Given the description of an element on the screen output the (x, y) to click on. 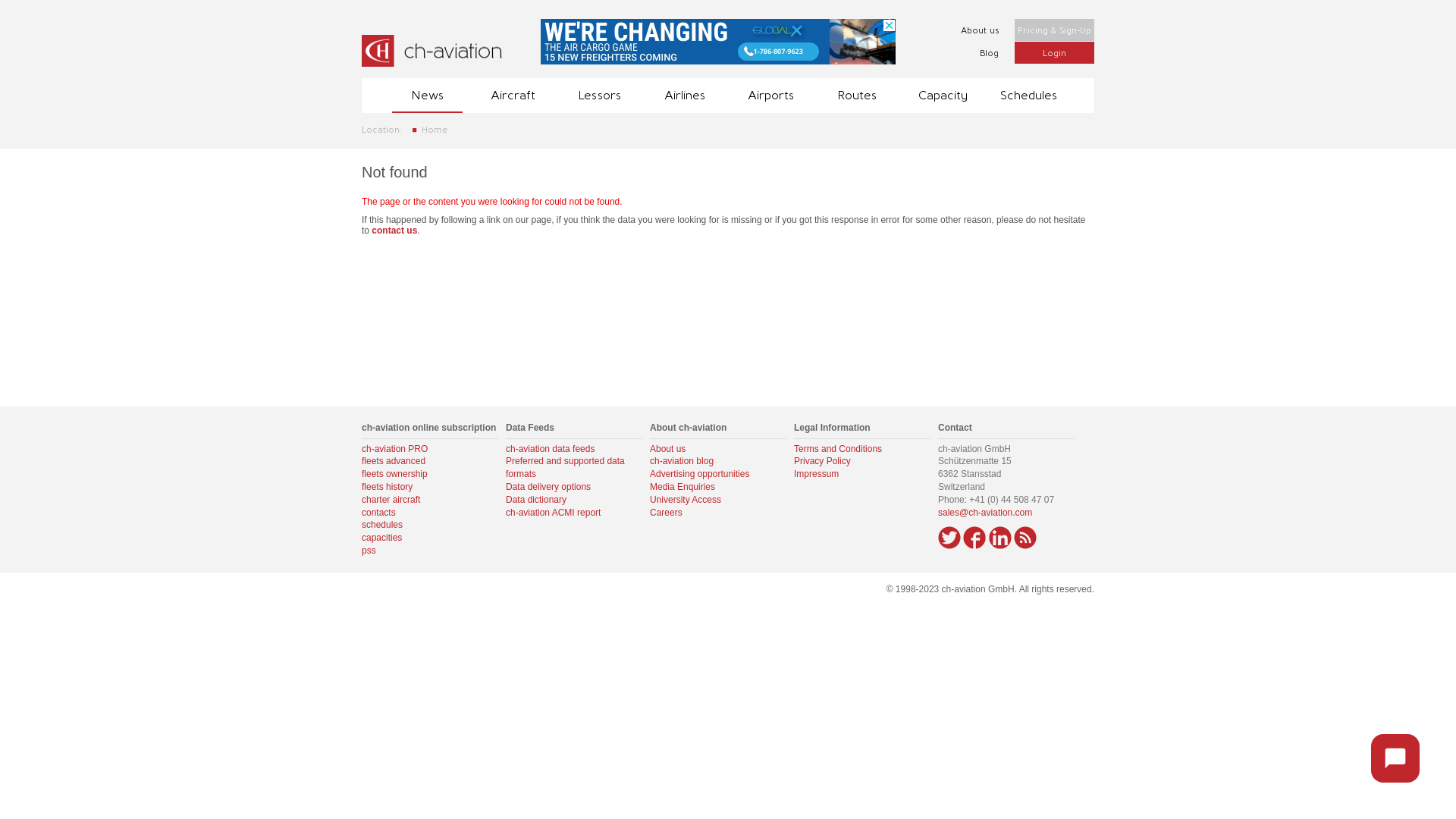
Preferred and supported data formats Element type: text (564, 467)
schedules Element type: text (381, 524)
Lessors Element type: text (599, 95)
About us Element type: text (667, 448)
Follow us on Twitter Element type: hover (949, 537)
ch-aviation PRO Element type: text (394, 448)
Find us on LinkedIn Element type: hover (999, 537)
Login Element type: text (1054, 52)
Data dictionary Element type: text (535, 499)
Careers Element type: text (665, 512)
3rd party ad content Element type: hover (716, 41)
Aircraft Element type: text (512, 95)
Privacy Policy Element type: text (821, 460)
fleets advanced Element type: text (393, 460)
Media Enquiries Element type: text (682, 486)
Home Element type: text (434, 129)
Blog Element type: text (973, 52)
Advertising opportunities Element type: text (699, 473)
pss Element type: text (368, 550)
Become a fan on Facebook Element type: hover (974, 537)
ch-aviation blog Element type: text (681, 460)
capacities Element type: text (381, 537)
Airlines Element type: text (684, 95)
fleets history Element type: text (386, 486)
News Element type: text (427, 95)
sales@ch-aviation.com Element type: text (985, 512)
Data delivery options Element type: text (547, 486)
ch-aviation data feeds Element type: text (549, 448)
University Access Element type: text (685, 499)
Chatbot Element type: hover (1394, 757)
Capacity Element type: text (941, 95)
Terms and Conditions Element type: text (837, 448)
ch-aviation ACMI report Element type: text (552, 512)
contacts Element type: text (378, 512)
Impressum Element type: text (815, 473)
fleets ownership Element type: text (394, 473)
contact us Element type: text (394, 230)
About us Element type: text (973, 29)
Routes Element type: text (856, 95)
Airports Element type: text (770, 95)
Subscribe via RSS Element type: hover (1024, 537)
Pricing & Sign-Up Element type: text (1054, 29)
charter aircraft Element type: text (390, 499)
Schedules Element type: text (1028, 95)
